Given the description of an element on the screen output the (x, y) to click on. 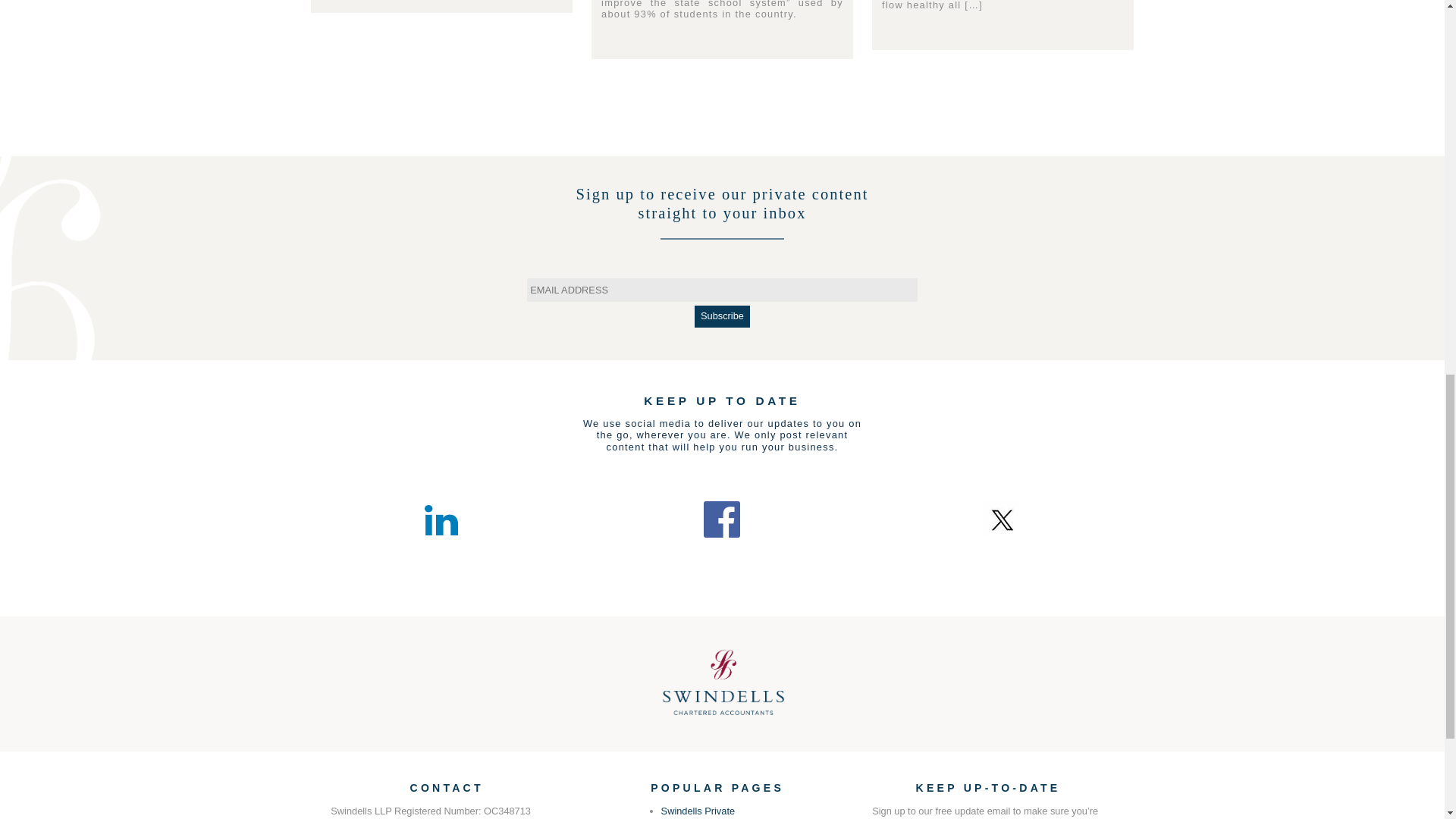
Subscribe (721, 315)
